Given the description of an element on the screen output the (x, y) to click on. 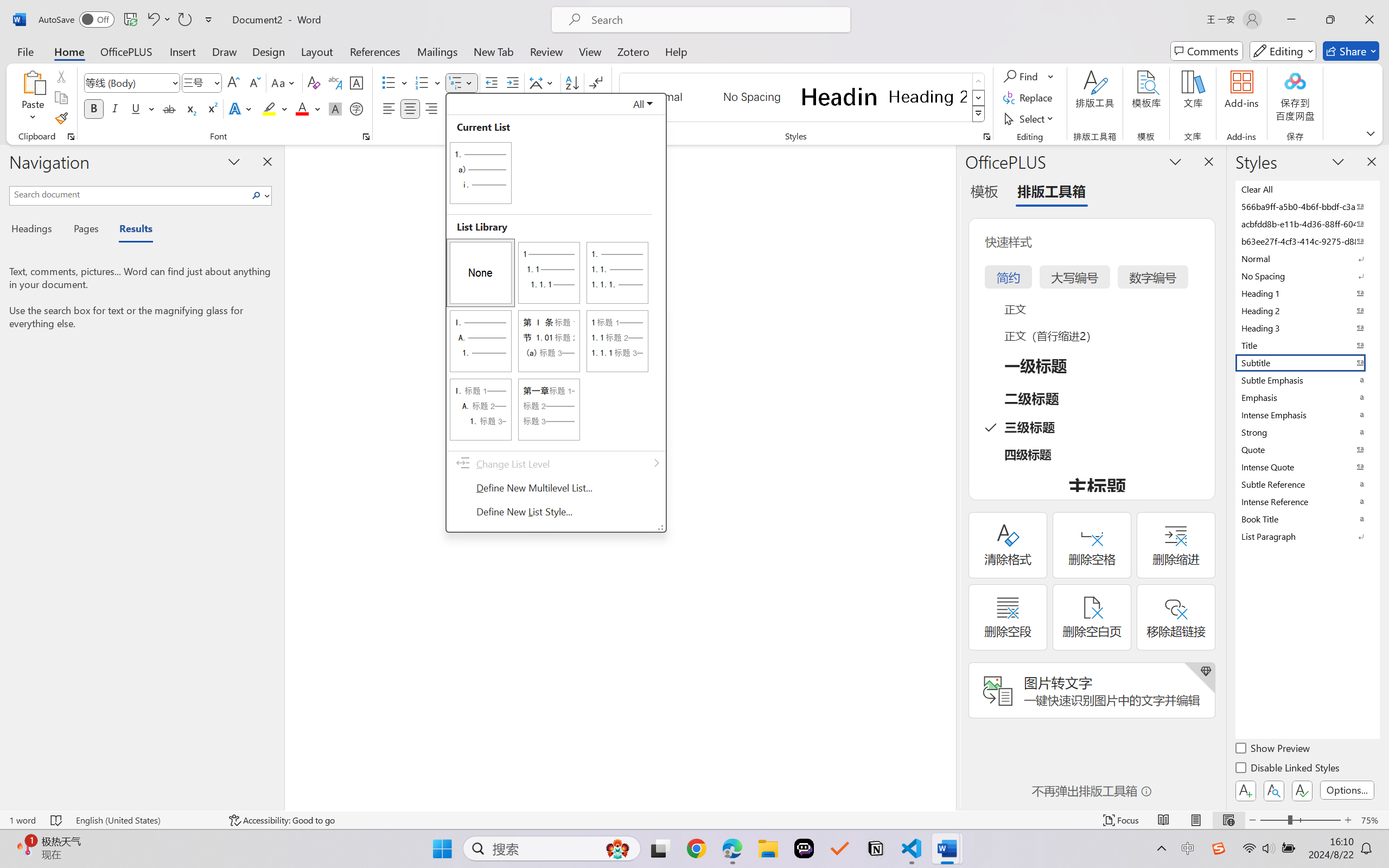
Share (1350, 51)
Class: NetUIScrollBar (948, 477)
Design (268, 51)
Italic (115, 108)
Font... (365, 136)
Replace... (1029, 97)
Asian Layout (542, 82)
Bullets (388, 82)
Search (259, 195)
Layout (316, 51)
